Given the description of an element on the screen output the (x, y) to click on. 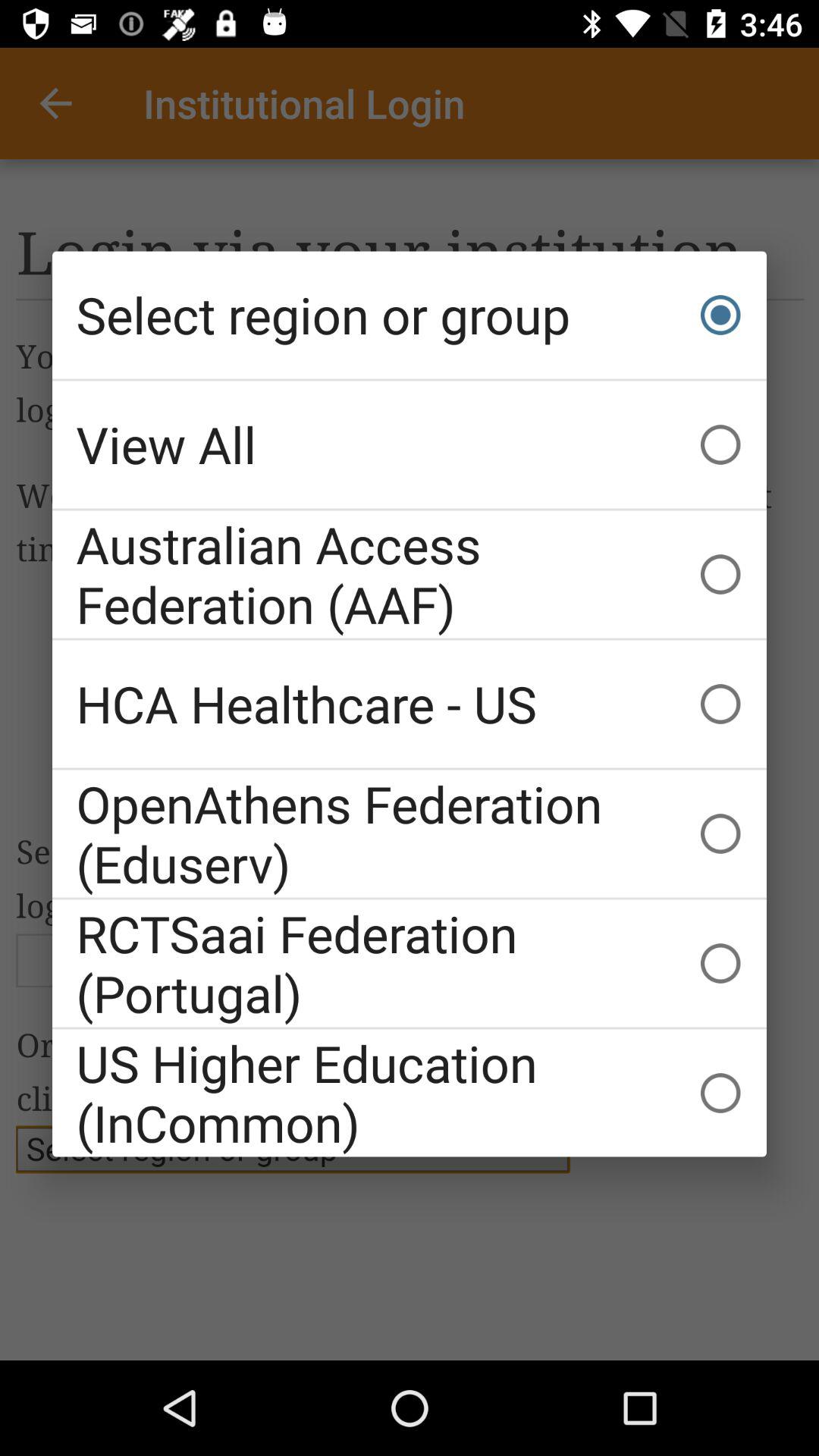
choose the icon below the australian access federation (409, 703)
